Given the description of an element on the screen output the (x, y) to click on. 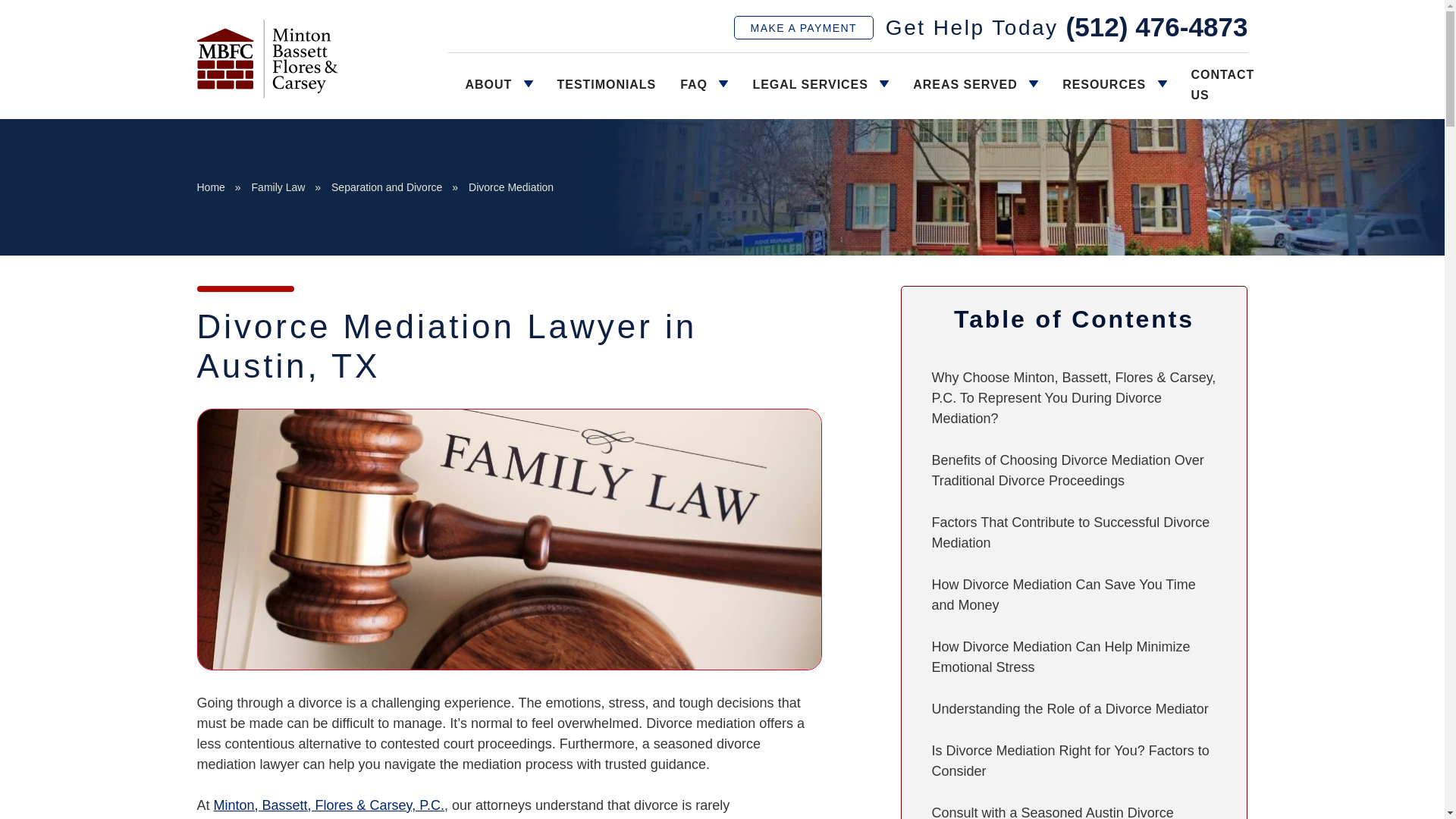
FAQ (703, 85)
TESTIMONIALS (606, 85)
LEGAL SERVICES (820, 85)
ABOUT (499, 85)
